Given the description of an element on the screen output the (x, y) to click on. 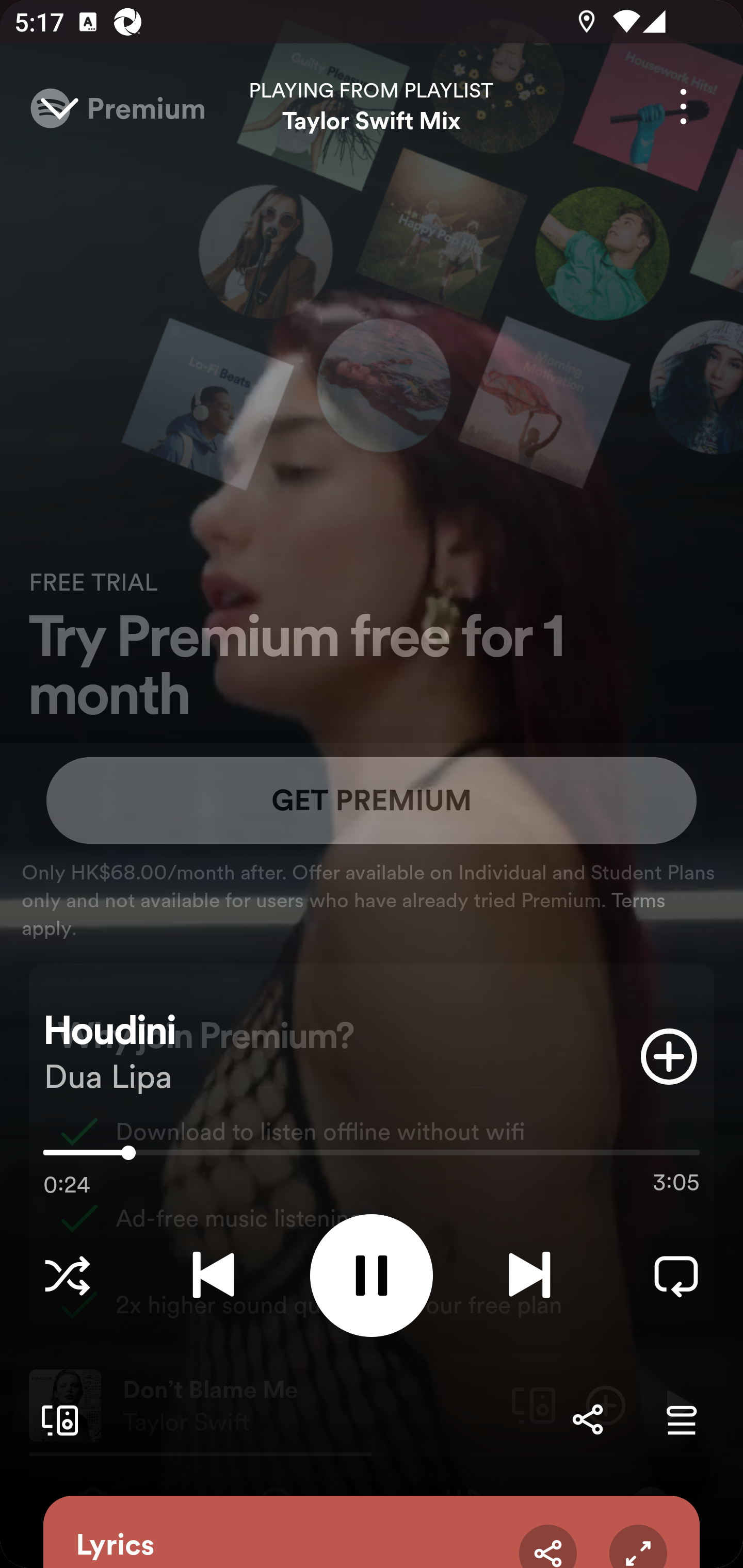
Close (59, 106)
More options for song Houdini (683, 106)
PLAYING FROM PLAYLIST Taylor Swift Mix (371, 106)
Add item (669, 1056)
0:23 3:05 24024.0 Use volume keys to adjust (371, 1157)
Pause (371, 1275)
Previous (212, 1275)
Next (529, 1275)
Choose a Listening Mode (66, 1275)
Repeat (676, 1275)
Share (587, 1419)
Go to Queue (681, 1419)
Connect to a device. Opens the devices menu (55, 1419)
Lyrics Share Expand (371, 1531)
Share (547, 1546)
Expand (638, 1546)
